Given the description of an element on the screen output the (x, y) to click on. 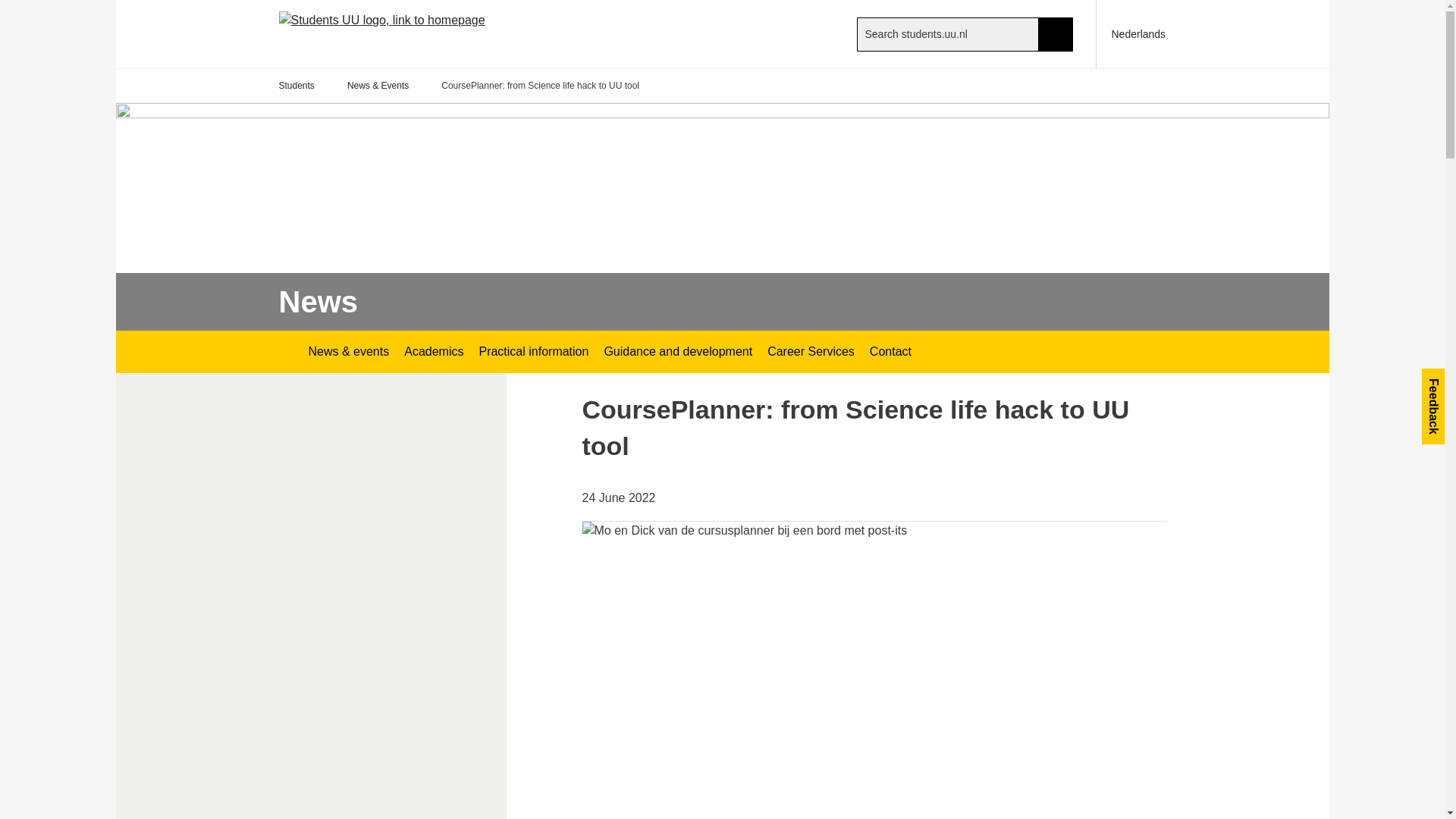
Students (296, 85)
Home (408, 33)
SEARCH (1056, 33)
Nederlands (1131, 33)
Skip to main content (7, 7)
Academics (433, 351)
